Given the description of an element on the screen output the (x, y) to click on. 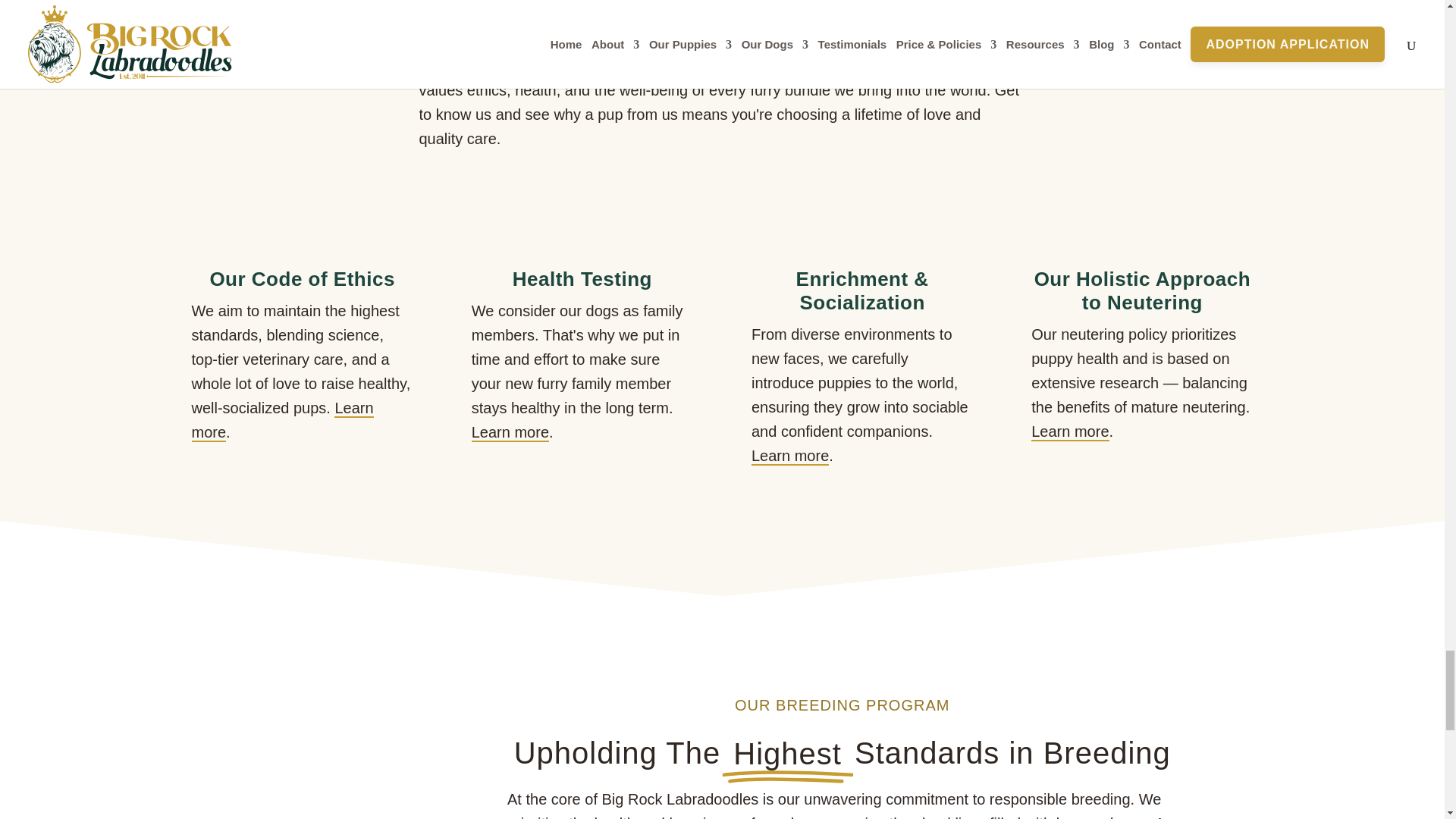
Learn more about our code of ethics (281, 420)
Learn more about our holistic approach to  neutering (1069, 432)
Learn more about our socialization techniques (789, 456)
Learn more about our health testing (509, 433)
